Given the description of an element on the screen output the (x, y) to click on. 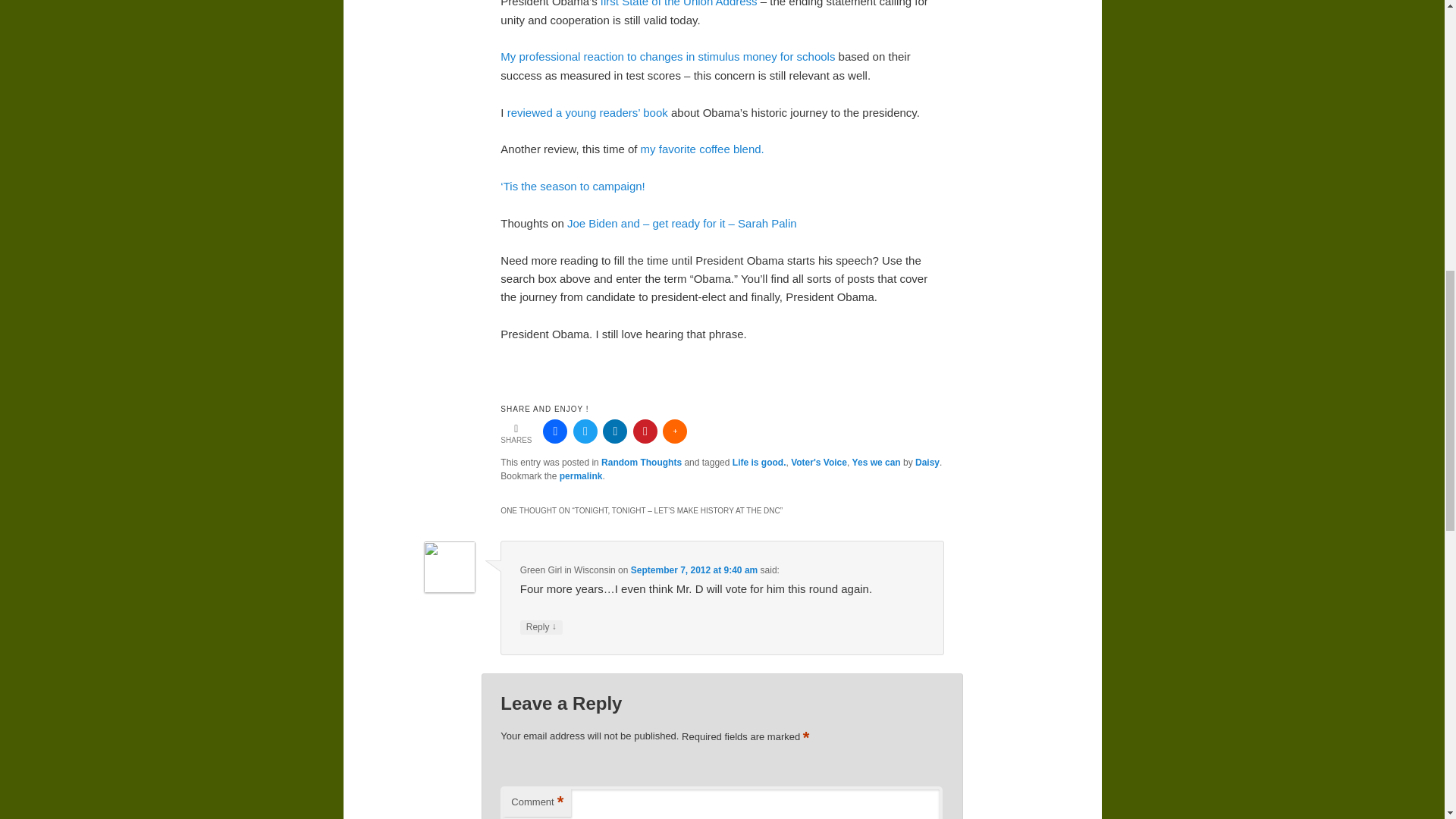
Tweet this ! (584, 431)
Voter's Voice (818, 462)
Random Thoughts (641, 462)
More share links (674, 431)
my favorite coffee blend. (702, 148)
permalink (580, 475)
Life is good. (759, 462)
Share this on Facebook (555, 431)
Add this to LinkedIn (614, 431)
Submit this to Pinterest (645, 431)
